Given the description of an element on the screen output the (x, y) to click on. 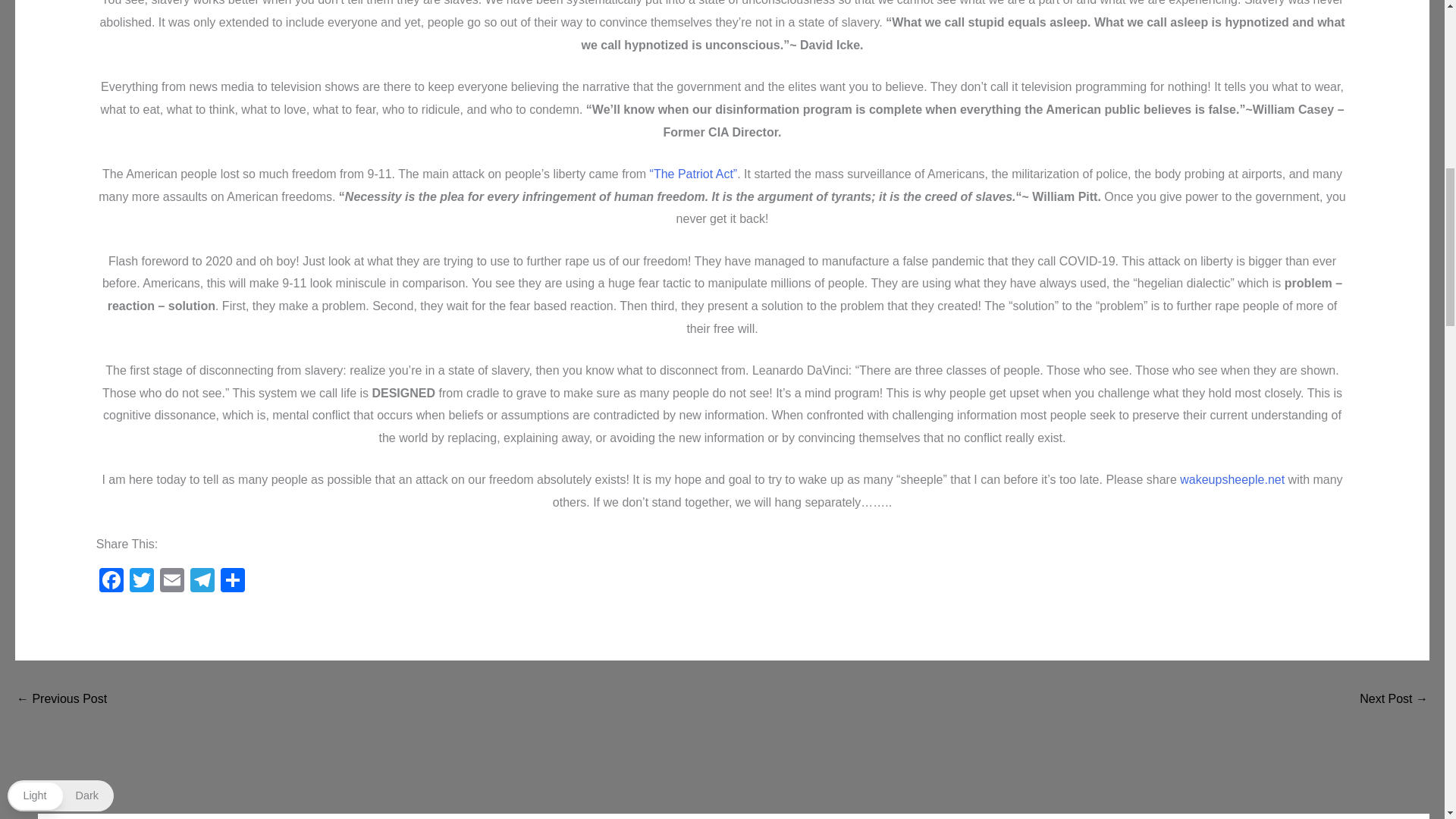
Facebook (111, 582)
Twitter (141, 582)
Email (172, 582)
Twitter (141, 582)
Facebook (111, 582)
HOW BILL GATES MONOPOLIZED GLOBAL HEALTH (61, 700)
Email (172, 582)
Medical Martial Law (1393, 700)
Telegram (201, 582)
wakeupsheeple.net (1231, 479)
